Given the description of an element on the screen output the (x, y) to click on. 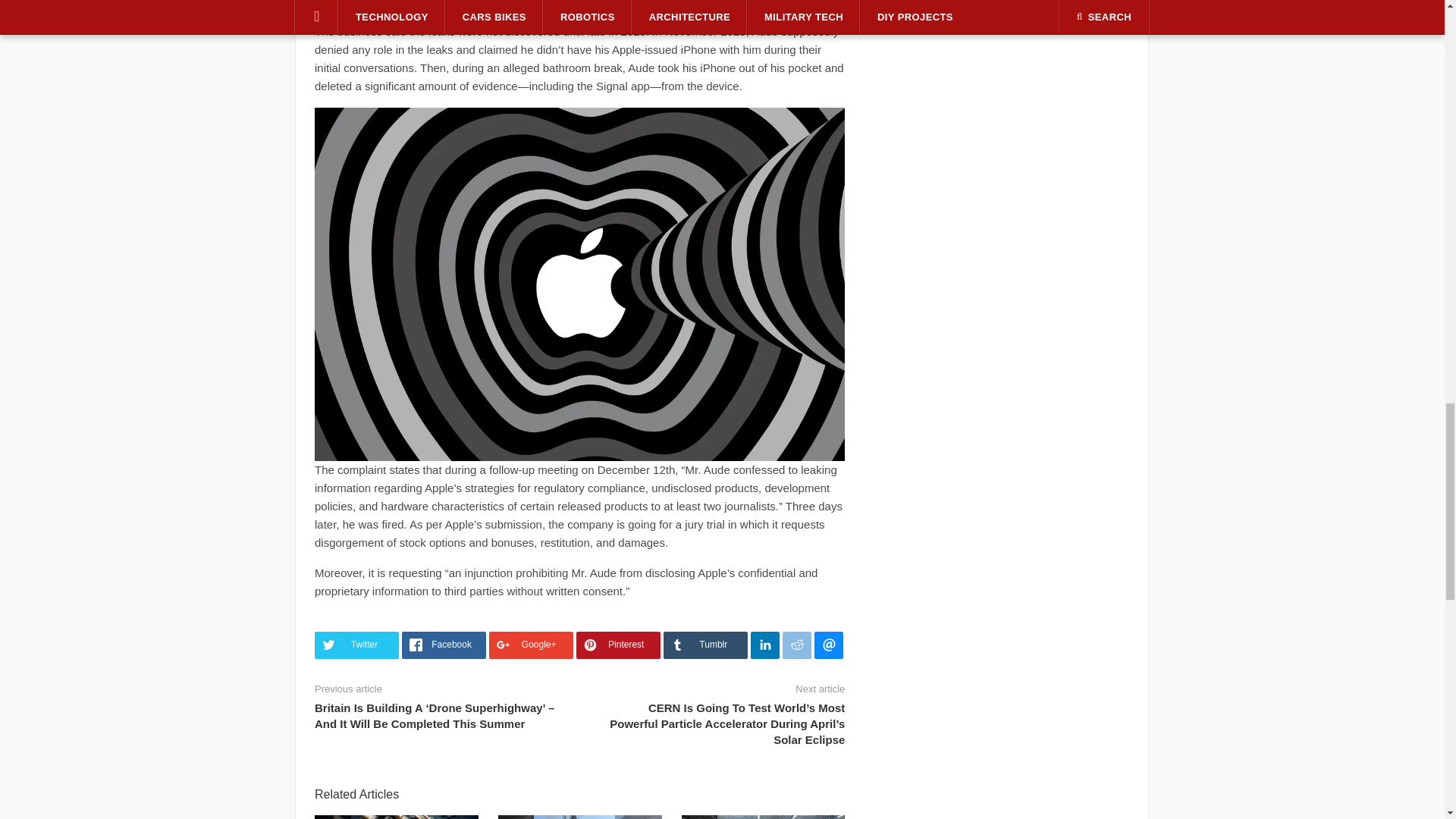
Facebook (443, 645)
Tumblr (705, 645)
Pinterest (618, 645)
Twitter (356, 645)
